Given the description of an element on the screen output the (x, y) to click on. 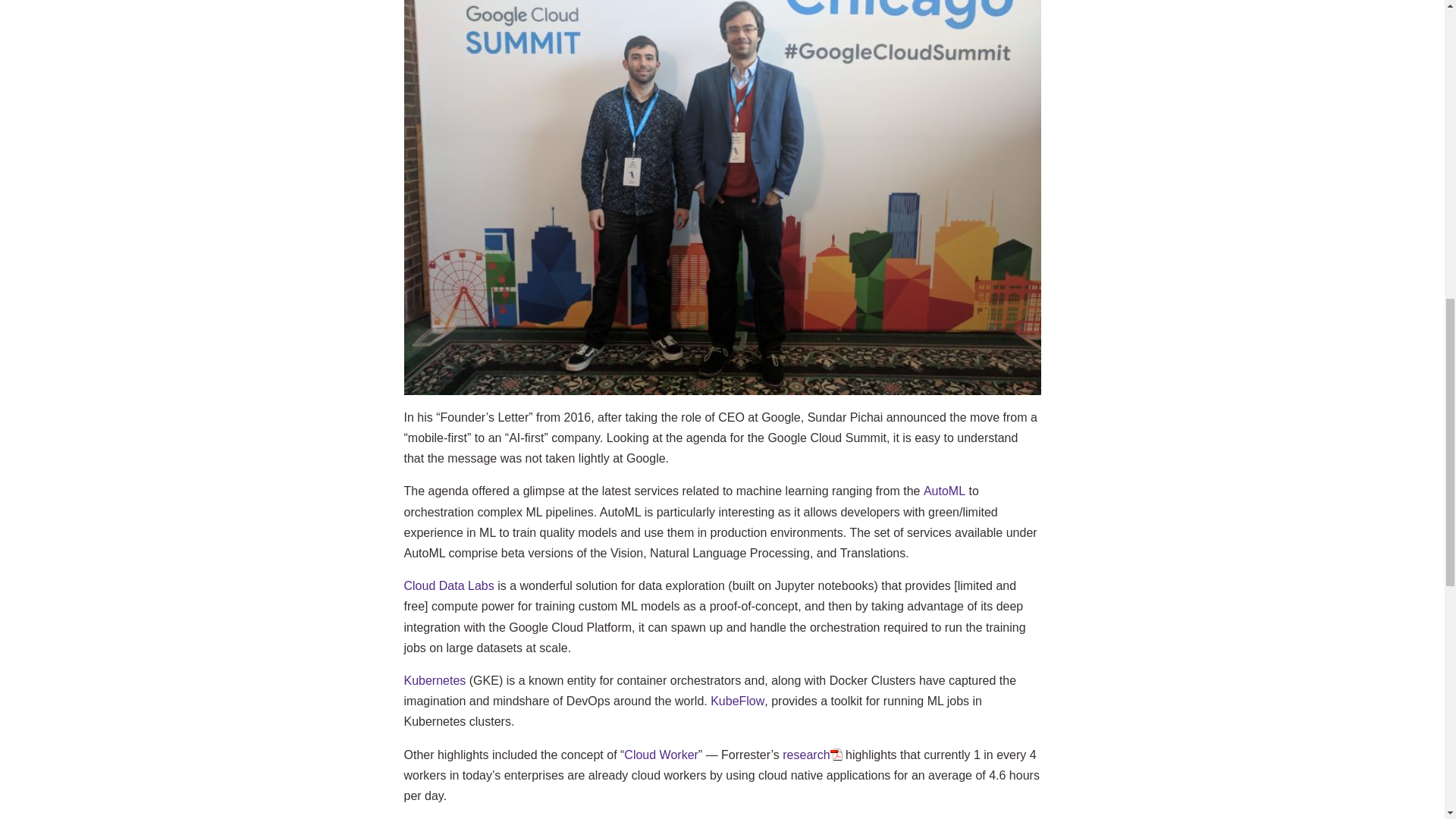
Cloud Worker (661, 754)
AutoML (944, 490)
KubeFlow (737, 700)
Kubernetes (434, 680)
Cloud Data Labs (448, 585)
research (812, 754)
